Given the description of an element on the screen output the (x, y) to click on. 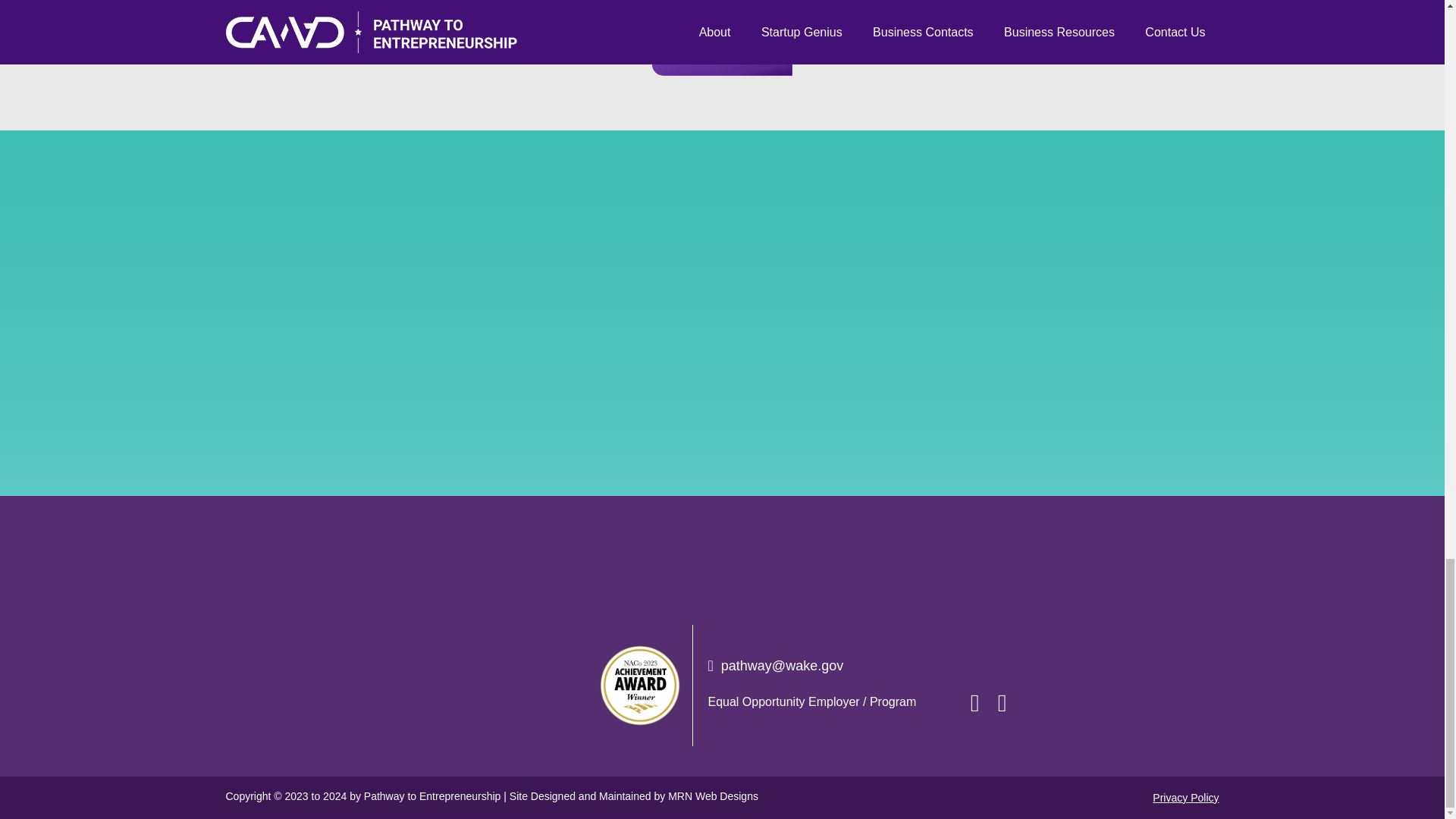
Privacy Policy (1185, 797)
wpforms-submit (721, 603)
NACo 2023 ACHIEVEMENT AWARD WINNER (639, 685)
Get Started (722, 58)
MRN Web Designs (713, 796)
Privacy Policy (1185, 797)
